Given the description of an element on the screen output the (x, y) to click on. 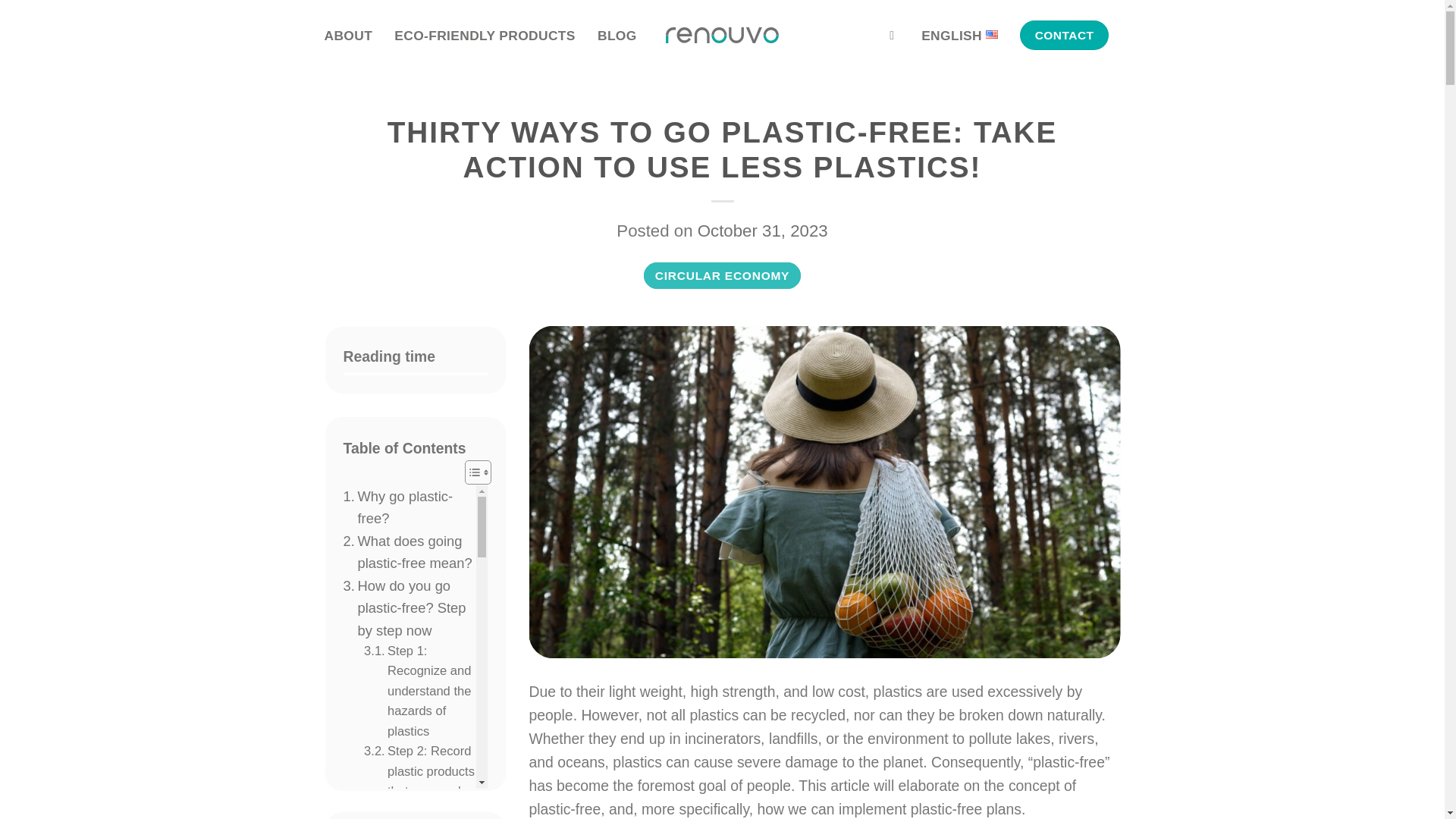
renouvo - Objective PlaNET Zero (721, 34)
CONTACT (1064, 34)
Step 2: Record plastic products that are used daily (420, 780)
BLOG (617, 34)
ABOUT (349, 34)
Why go plastic-free? (409, 507)
What does going plastic-free mean? (409, 551)
How do you go plastic-free? Step by step now (409, 607)
ECO-FRIENDLY PRODUCTS (486, 34)
ENGLISH (960, 34)
Step 1: Recognize and understand the hazards of plastics (420, 691)
